Given the description of an element on the screen output the (x, y) to click on. 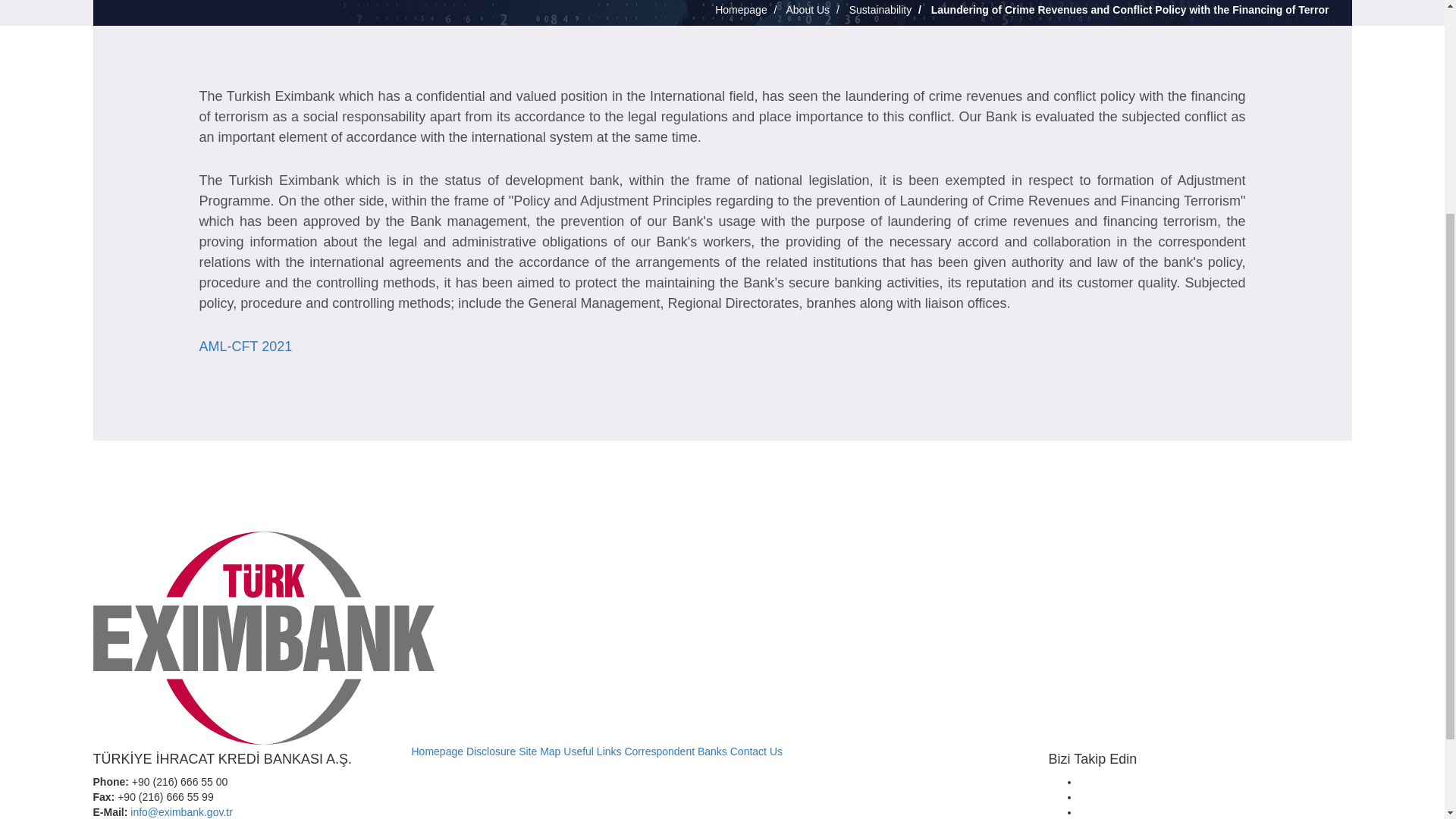
Correspondent Banks (675, 751)
Useful Links (592, 751)
Site Map (539, 751)
Contact Us (756, 751)
Disclosure (490, 751)
Home Page (436, 751)
